Given the description of an element on the screen output the (x, y) to click on. 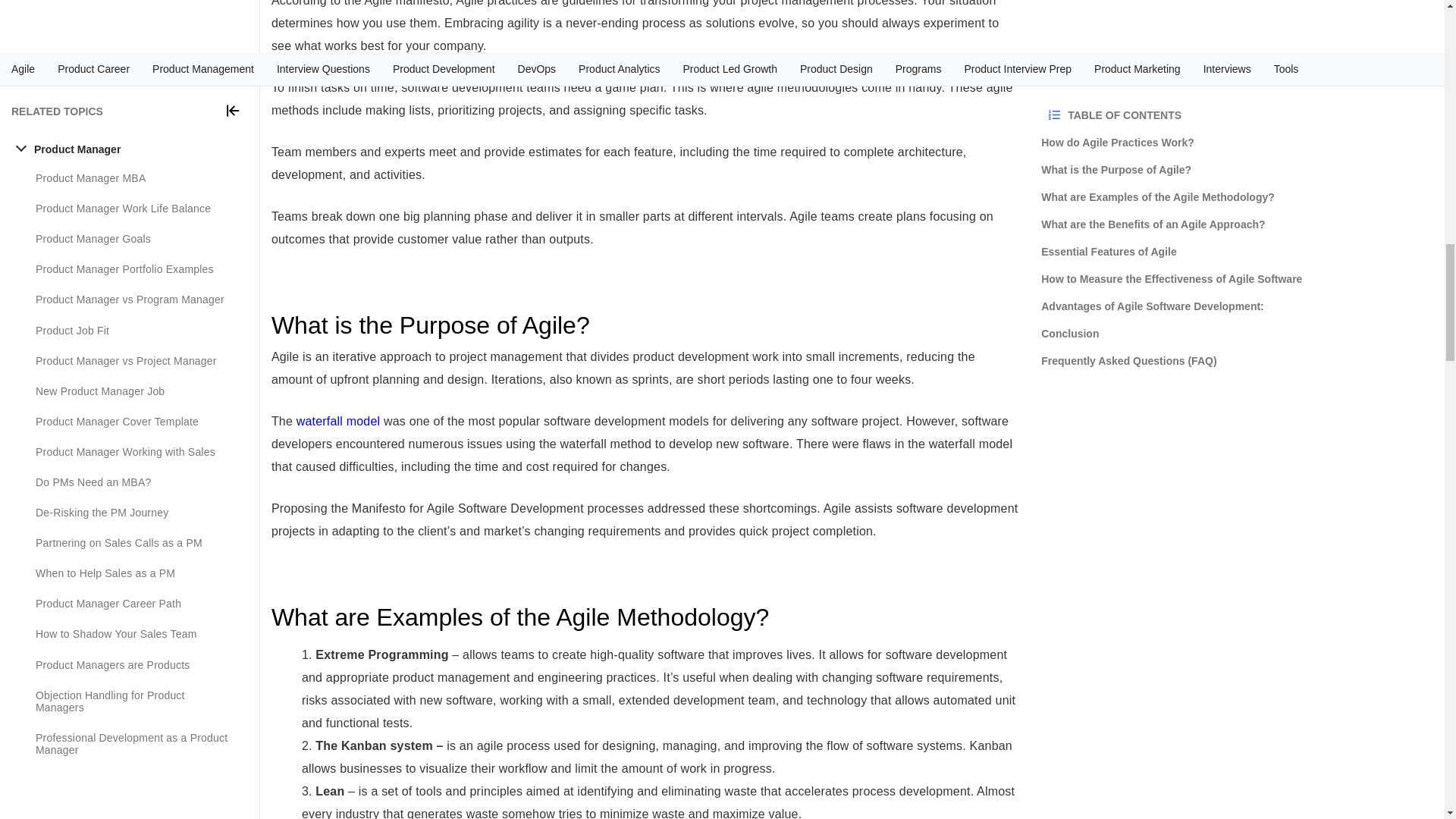
What are Examples of the Agile Methodology? (643, 617)
What is the Purpose of Agile? (643, 325)
